Given the description of an element on the screen output the (x, y) to click on. 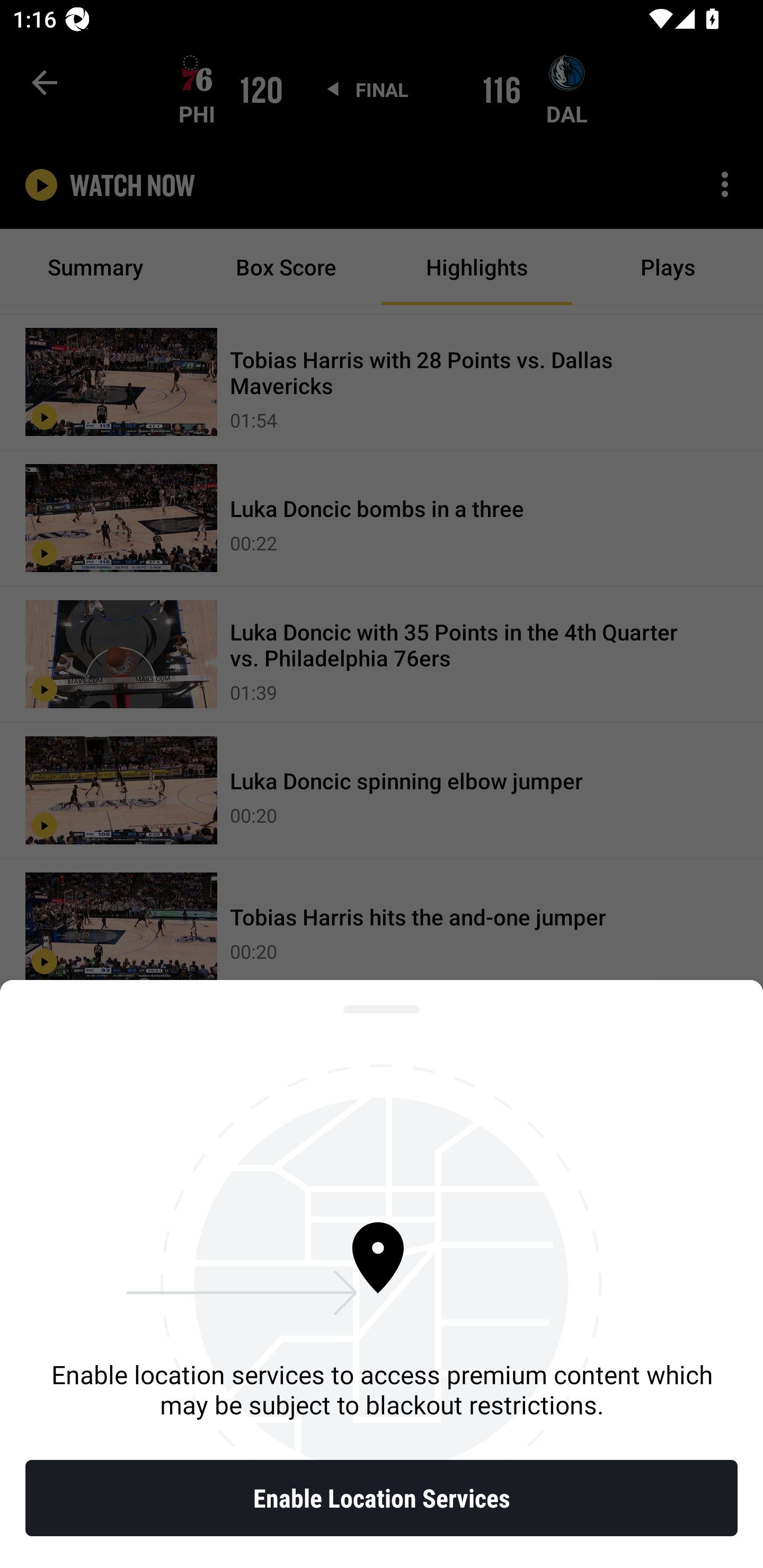
Enable Location Services (381, 1497)
